Given the description of an element on the screen output the (x, y) to click on. 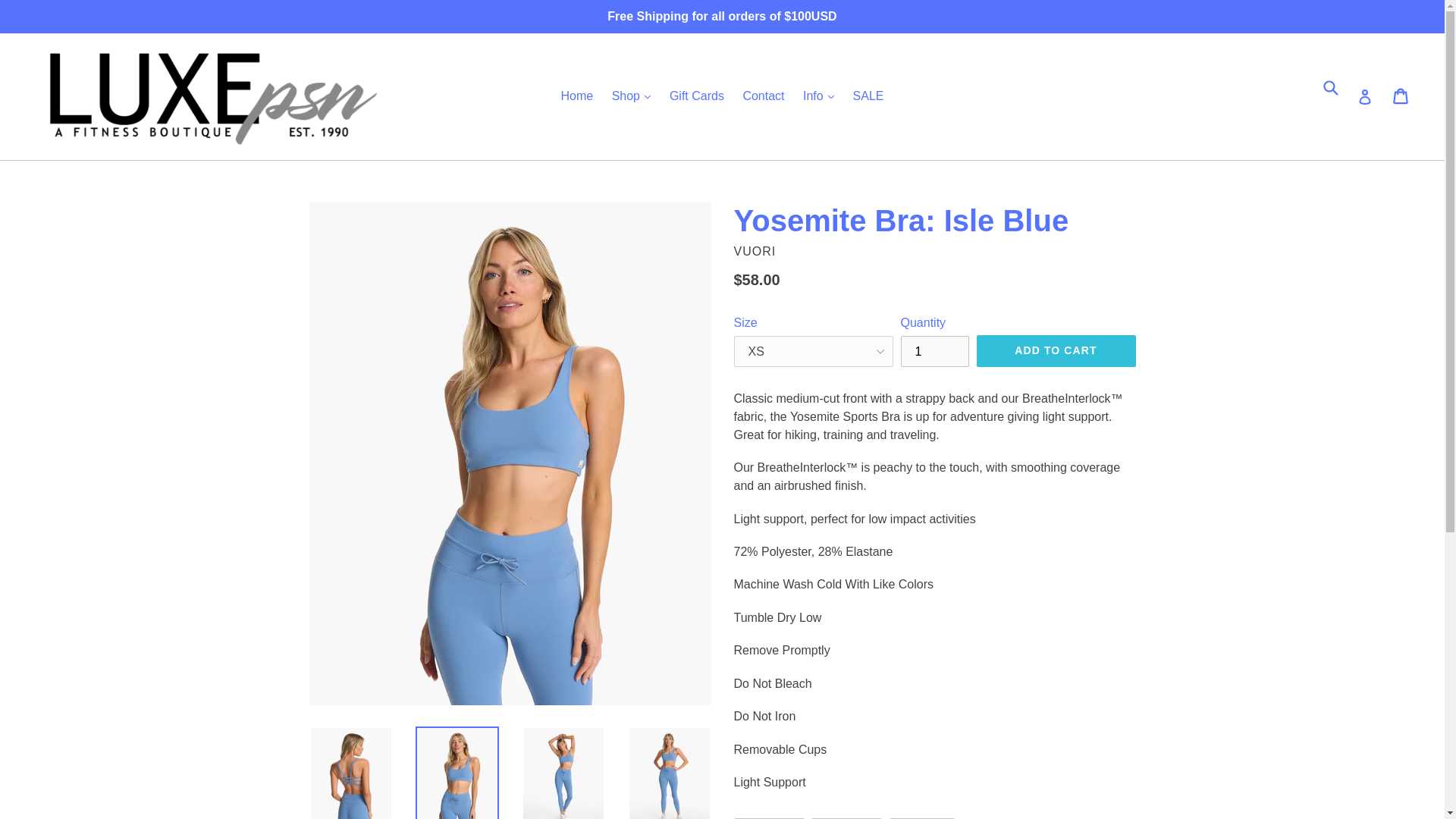
Home (577, 96)
Contact (763, 96)
1 (935, 350)
Share on Facebook (769, 818)
Gift Cards (697, 96)
Pin on Pinterest (922, 818)
Tweet on Twitter (846, 818)
